Given the description of an element on the screen output the (x, y) to click on. 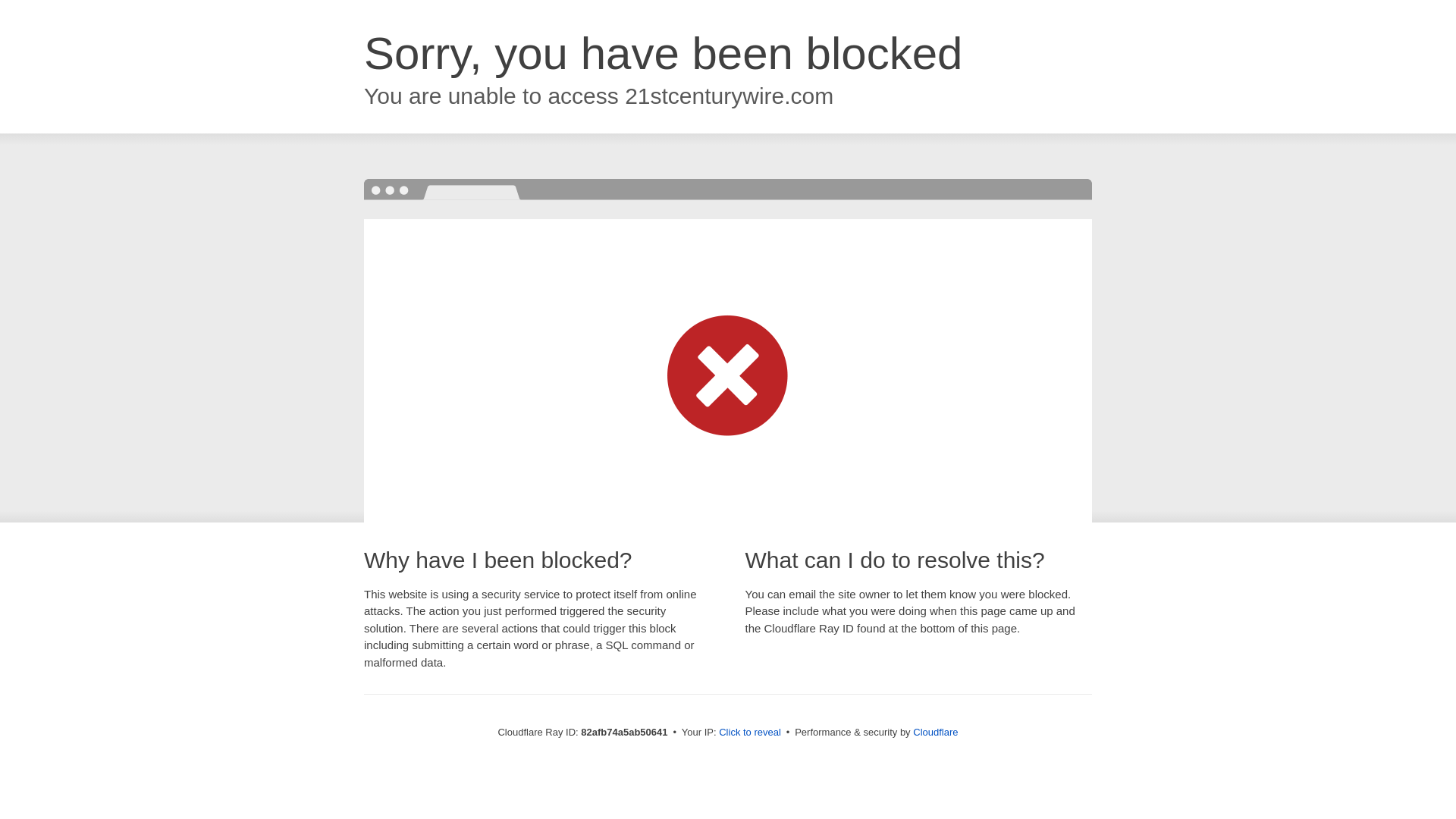
Cloudflare Element type: text (935, 731)
Click to reveal Element type: text (749, 732)
